Given the description of an element on the screen output the (x, y) to click on. 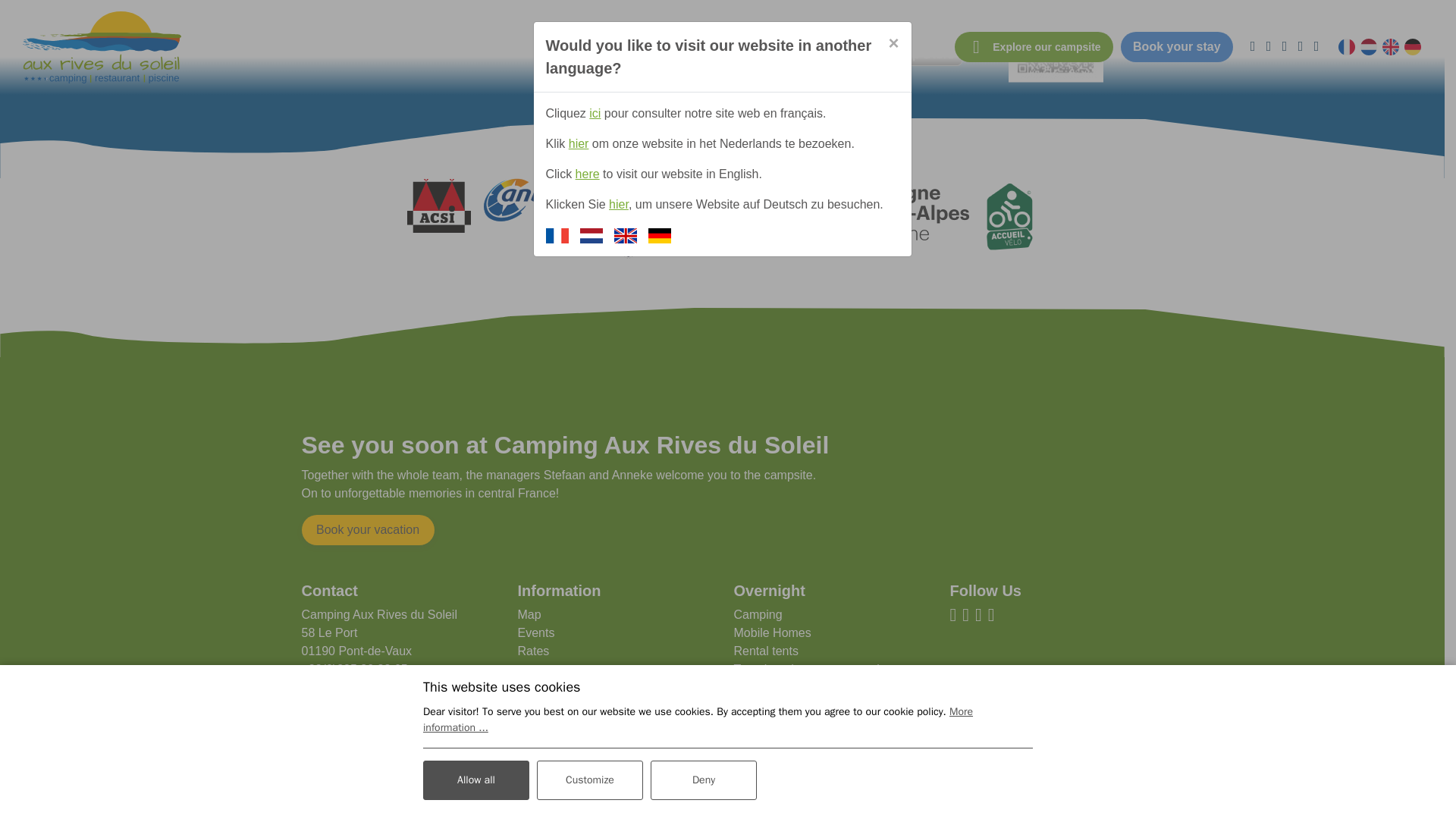
Auvergne Rhone Alpes (873, 208)
Ain tourisme (729, 205)
qr (1056, 40)
android (810, 50)
Camping qualite (629, 217)
apple (915, 50)
Anwb (525, 198)
ACSI (438, 205)
